Given the description of an element on the screen output the (x, y) to click on. 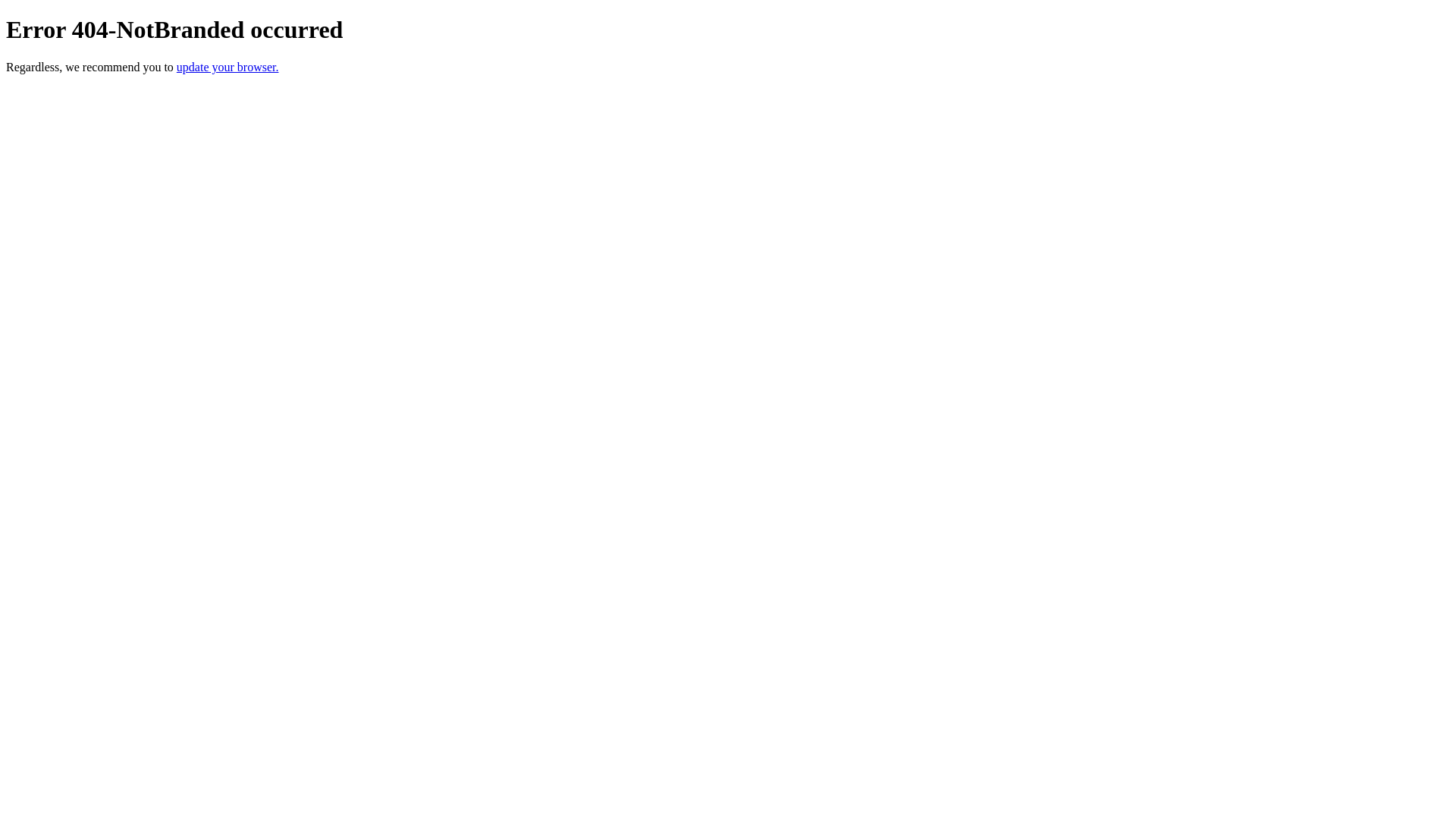
update your browser. Element type: text (227, 66)
